Given the description of an element on the screen output the (x, y) to click on. 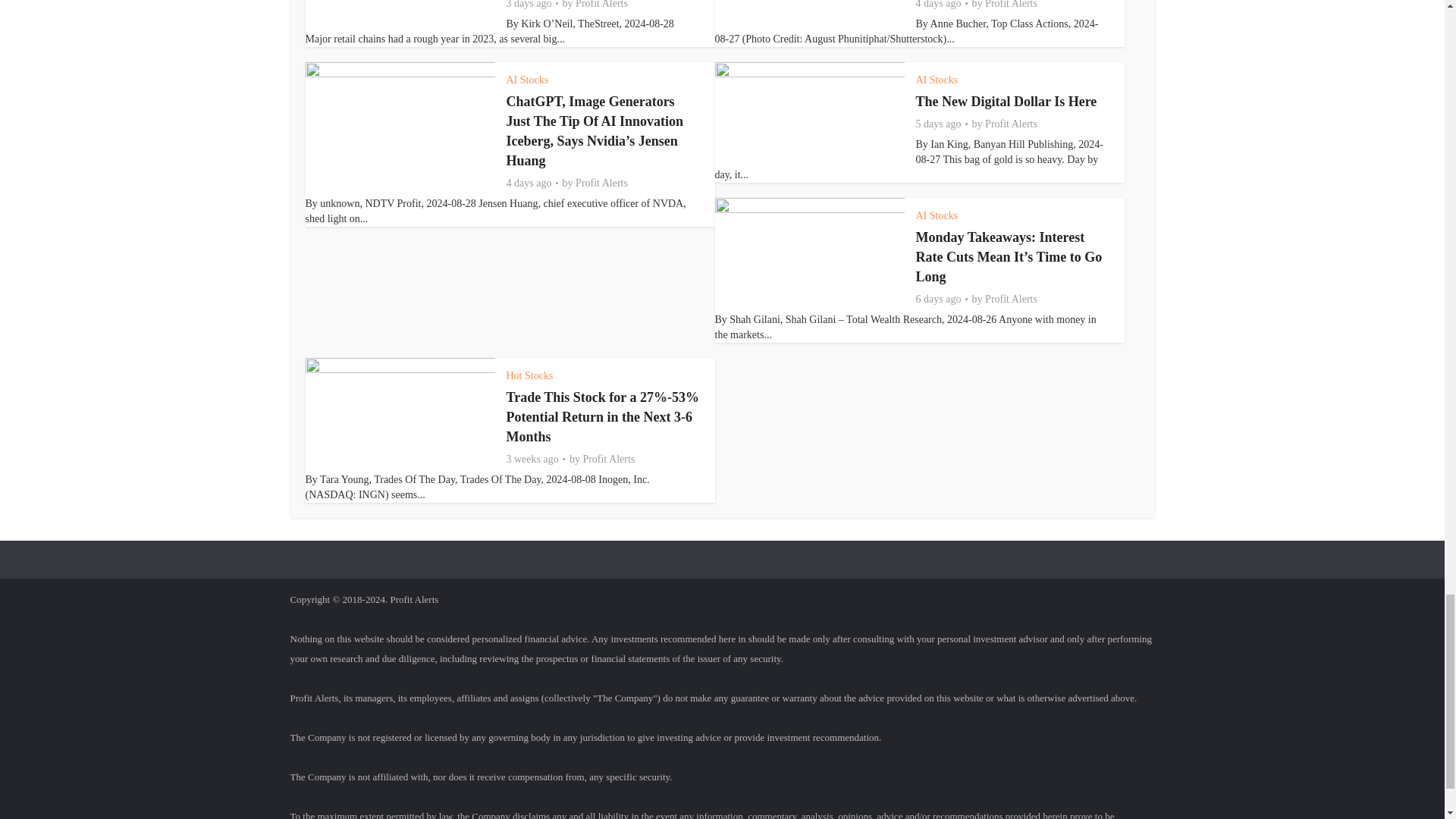
AI Stocks (936, 215)
Hot Stocks (529, 375)
Profit Alerts (1010, 299)
AI Stocks (527, 79)
The New Digital Dollar Is Here (1006, 101)
Profit Alerts (1010, 124)
Profit Alerts (601, 5)
The New Digital Dollar Is Here (1006, 101)
Profit Alerts (608, 459)
Profit Alerts (1010, 5)
